Given the description of an element on the screen output the (x, y) to click on. 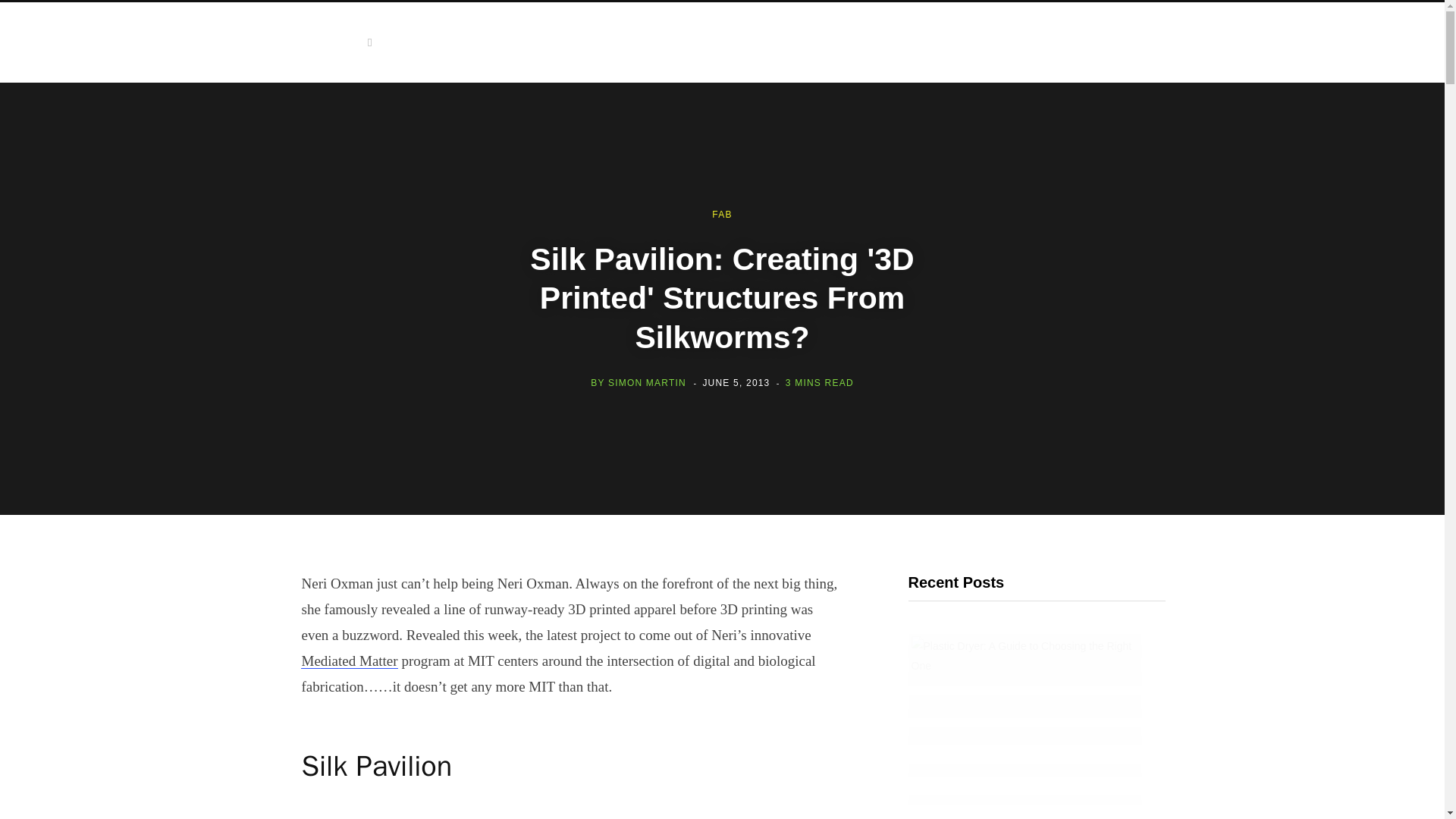
FAB (721, 214)
Mediated Matter (349, 660)
SIMON MARTIN (646, 382)
TOPICS (344, 41)
Posts by Simon Martin (646, 382)
